Given the description of an element on the screen output the (x, y) to click on. 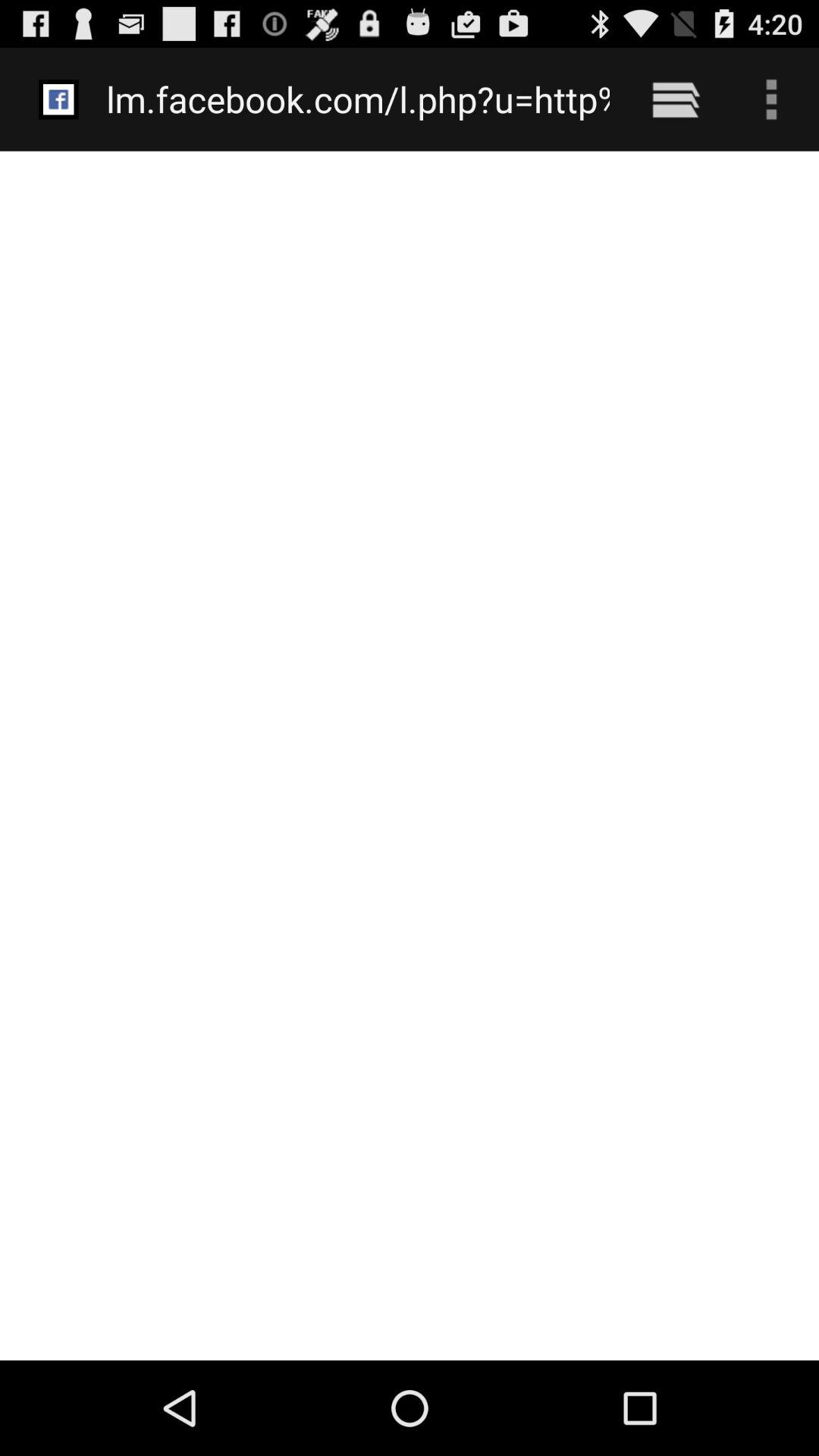
tap icon at the center (409, 755)
